Given the description of an element on the screen output the (x, y) to click on. 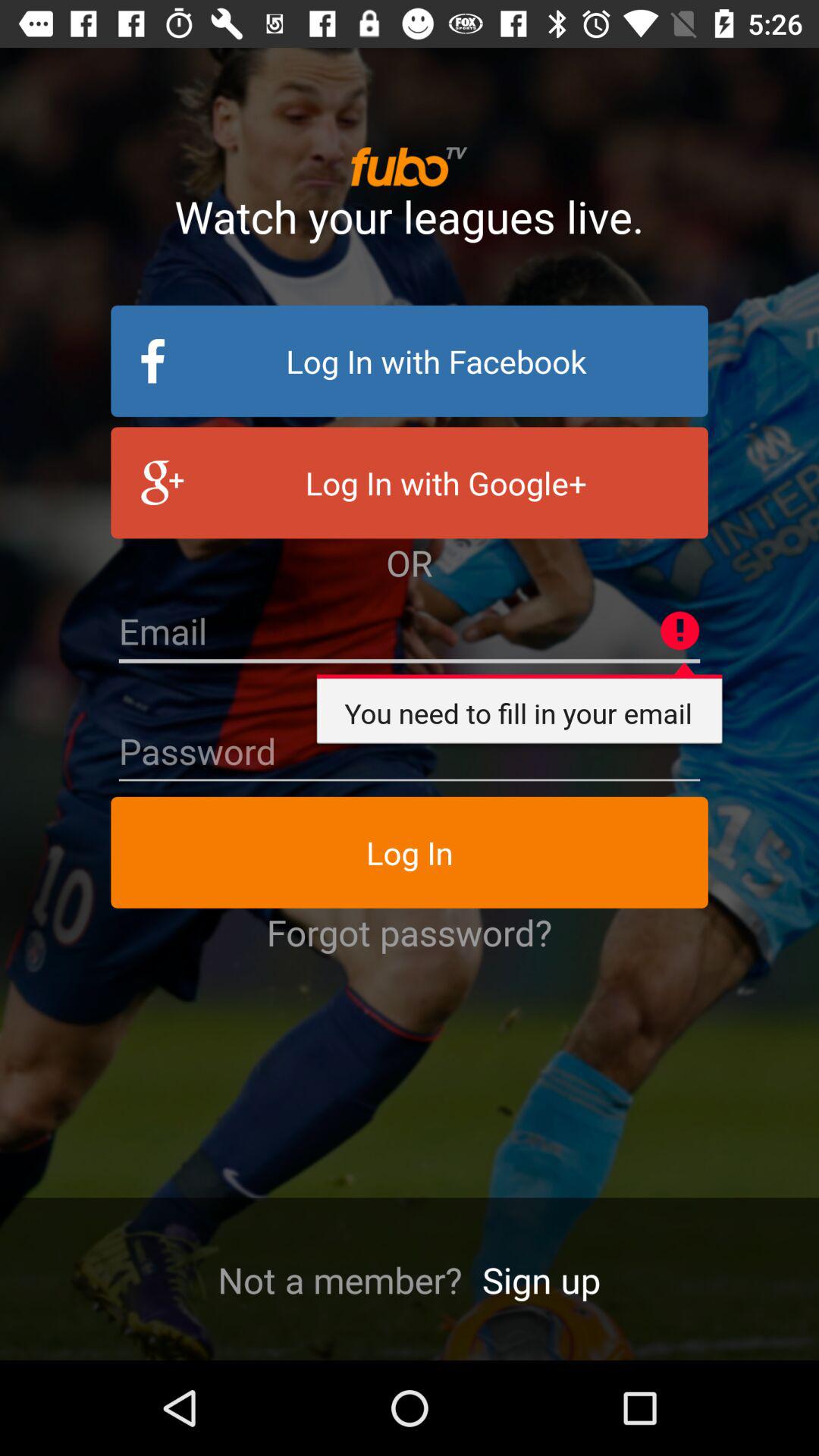
enter my email (409, 631)
